Given the description of an element on the screen output the (x, y) to click on. 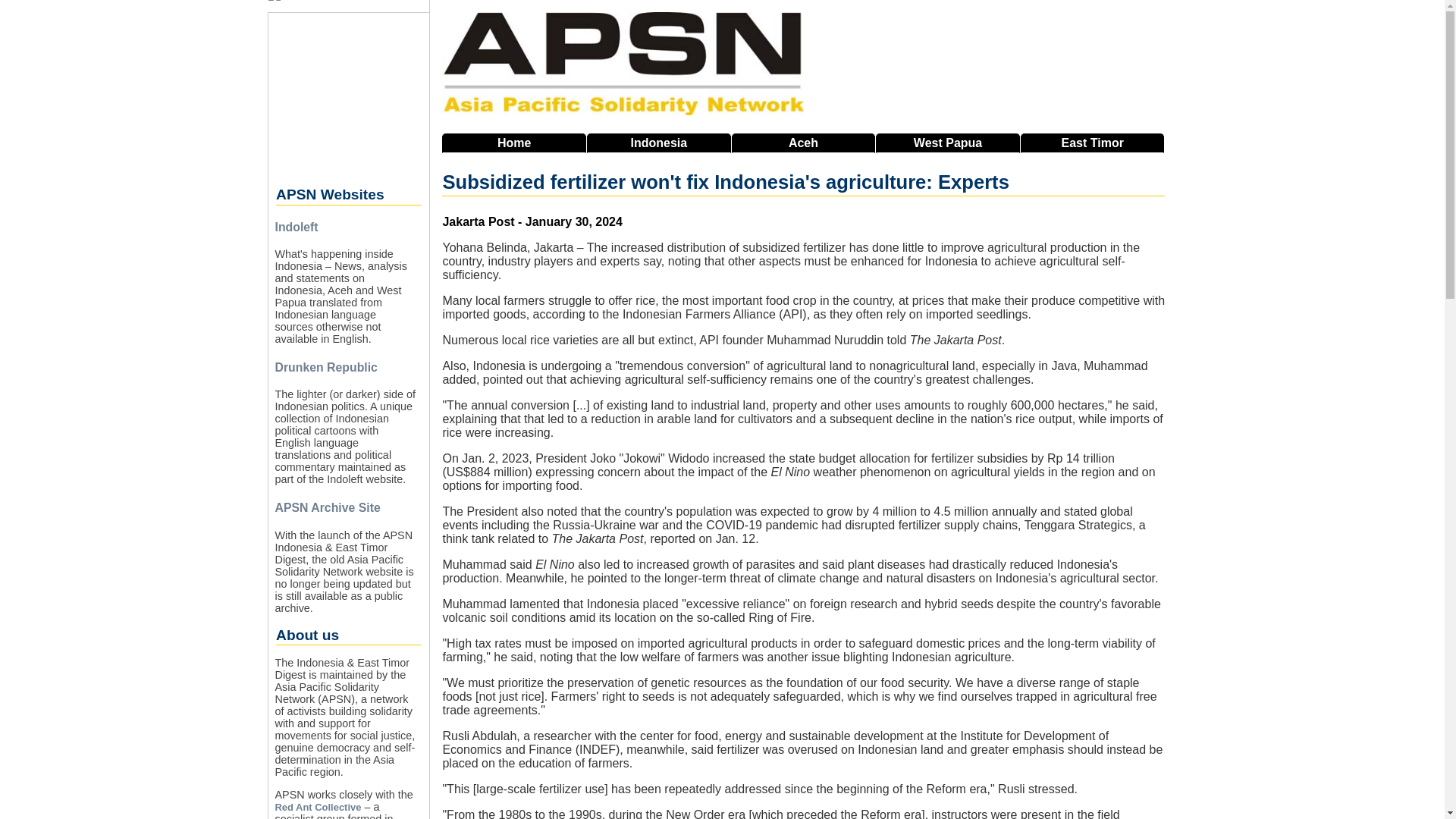
West Papua (948, 143)
East Timor (1092, 143)
Indonesia (658, 143)
Aceh (804, 143)
Indoleft (296, 226)
Drunken Republic (326, 367)
Home (514, 143)
